Given the description of an element on the screen output the (x, y) to click on. 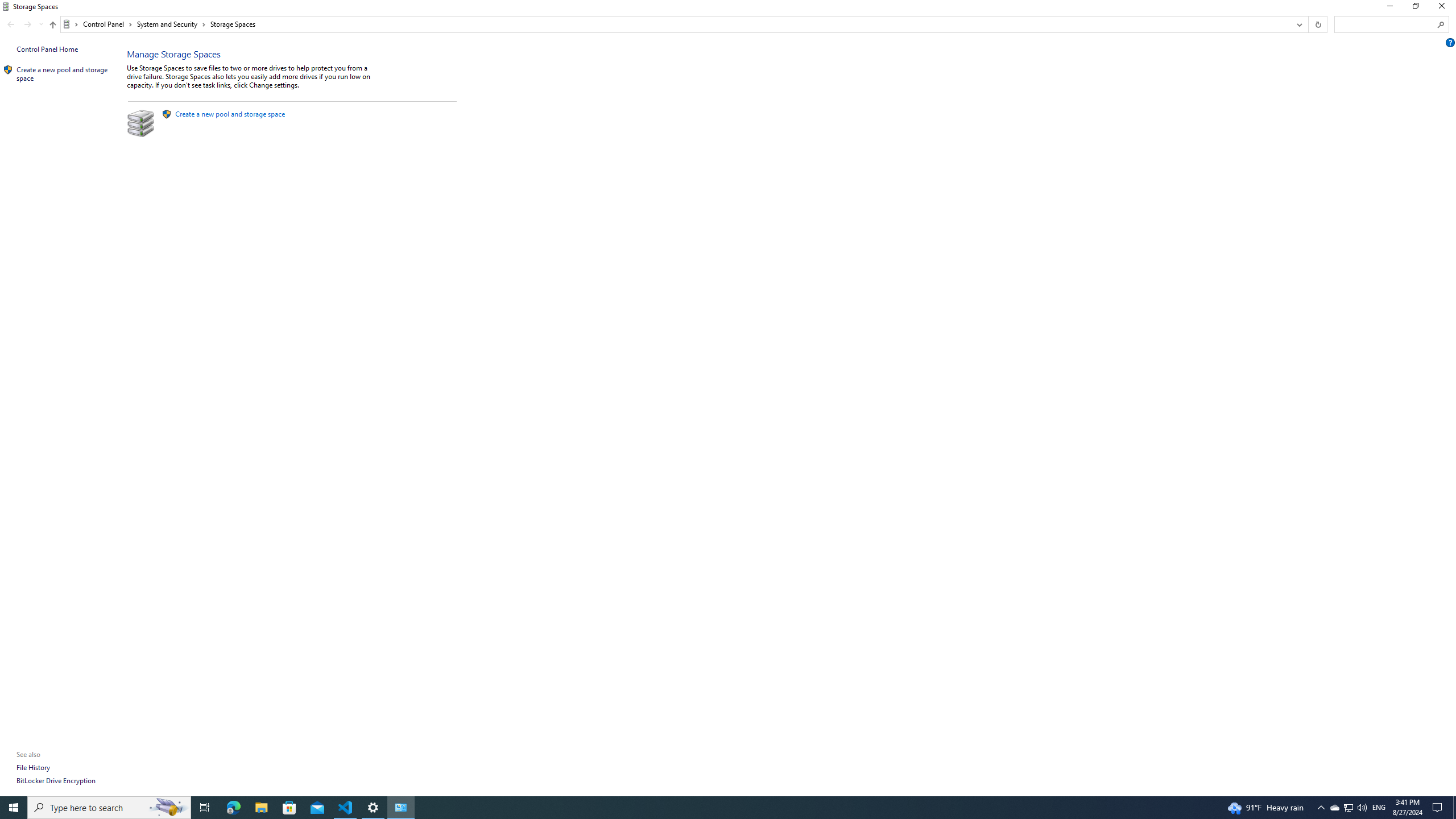
AutomationID: Help (1450, 42)
Address: Control Panel\System and Security\Storage Spaces (675, 23)
All locations (70, 23)
Control Panel (107, 23)
Search Box (1386, 23)
Running applications (706, 807)
System and Security (171, 23)
Search (1441, 24)
